Given the description of an element on the screen output the (x, y) to click on. 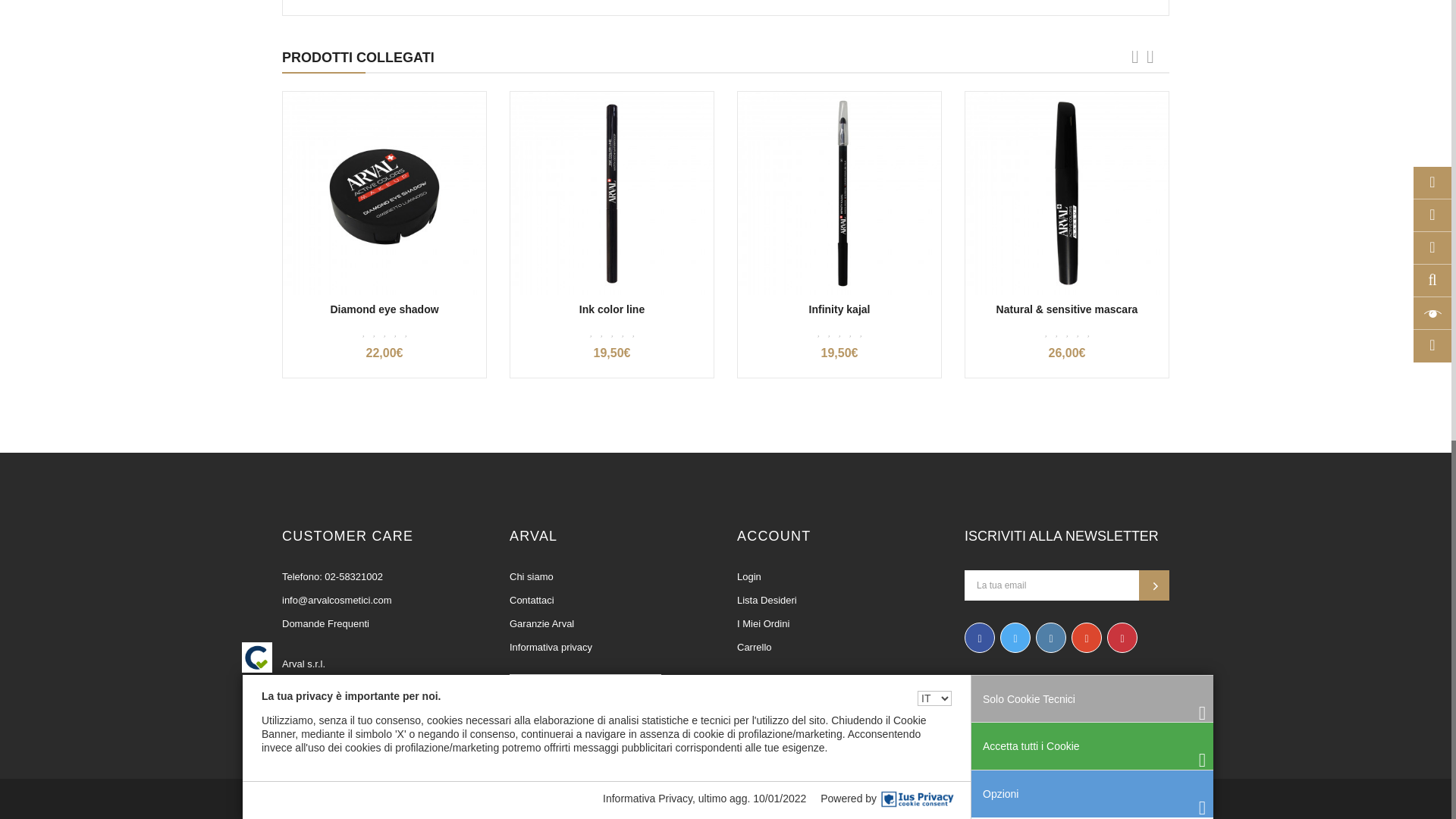
Diamond eye shadow  (384, 192)
